Given the description of an element on the screen output the (x, y) to click on. 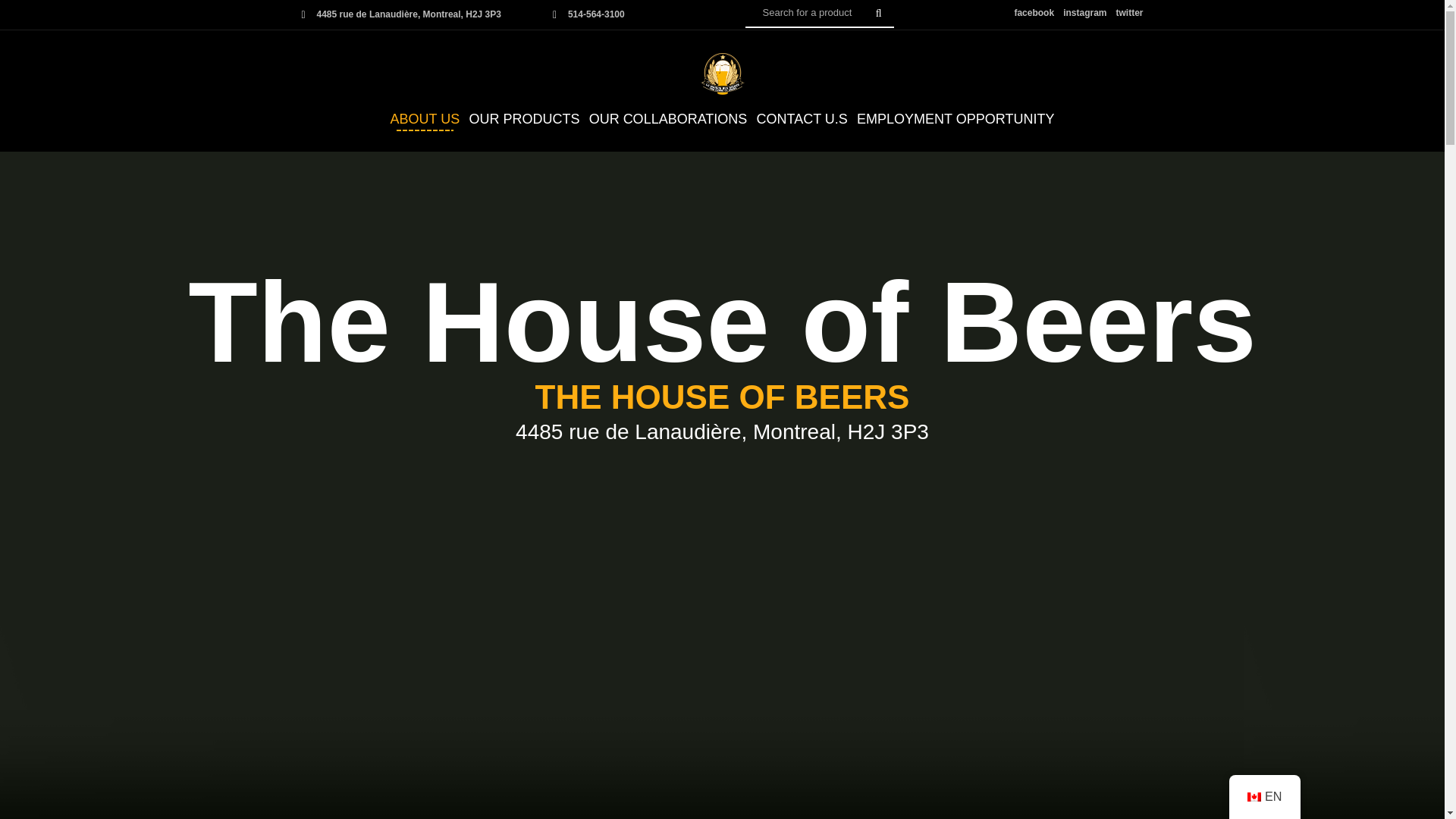
CONTACT U.S (801, 119)
Search for: (819, 13)
OUR PRODUCTS (523, 119)
OUR COLLABORATIONS (668, 119)
514-564-3100 (595, 14)
EMPLOYMENT OPPORTUNITY (955, 119)
ABOUT US (424, 119)
